Given the description of an element on the screen output the (x, y) to click on. 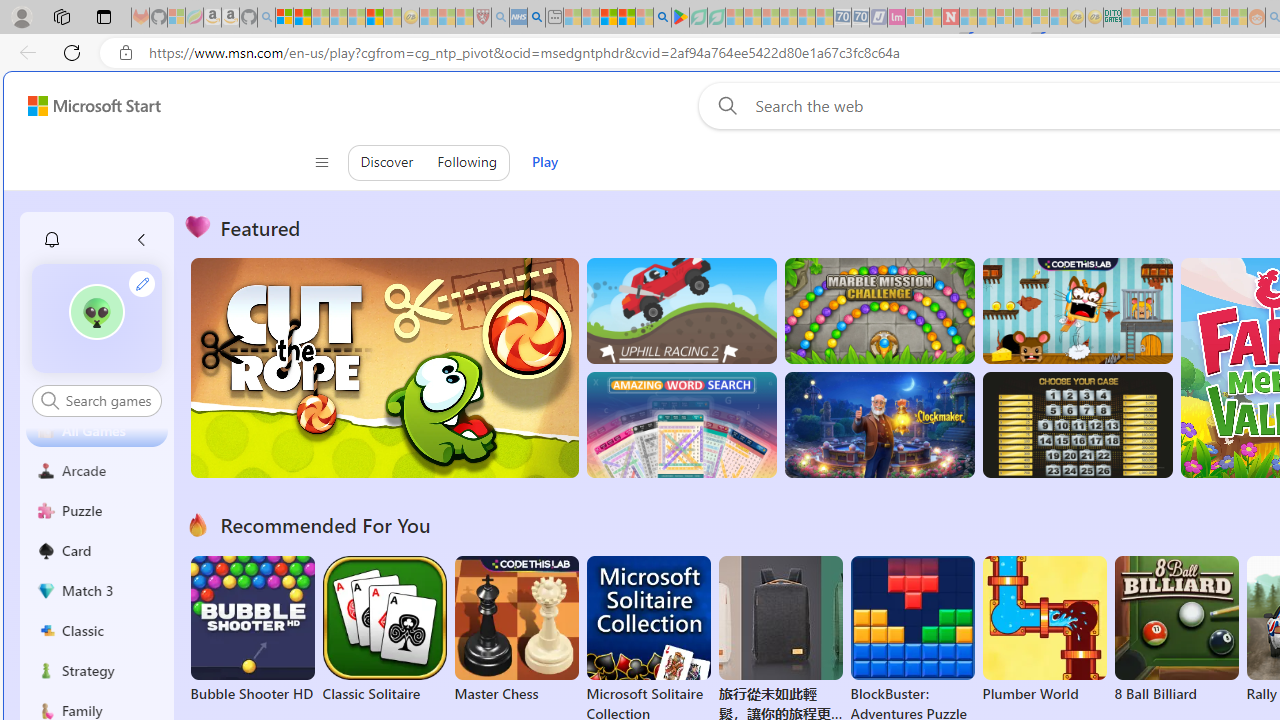
Bubble Shooter HD (251, 629)
Squicky (1076, 310)
Class: notification-item (51, 239)
